Given the description of an element on the screen output the (x, y) to click on. 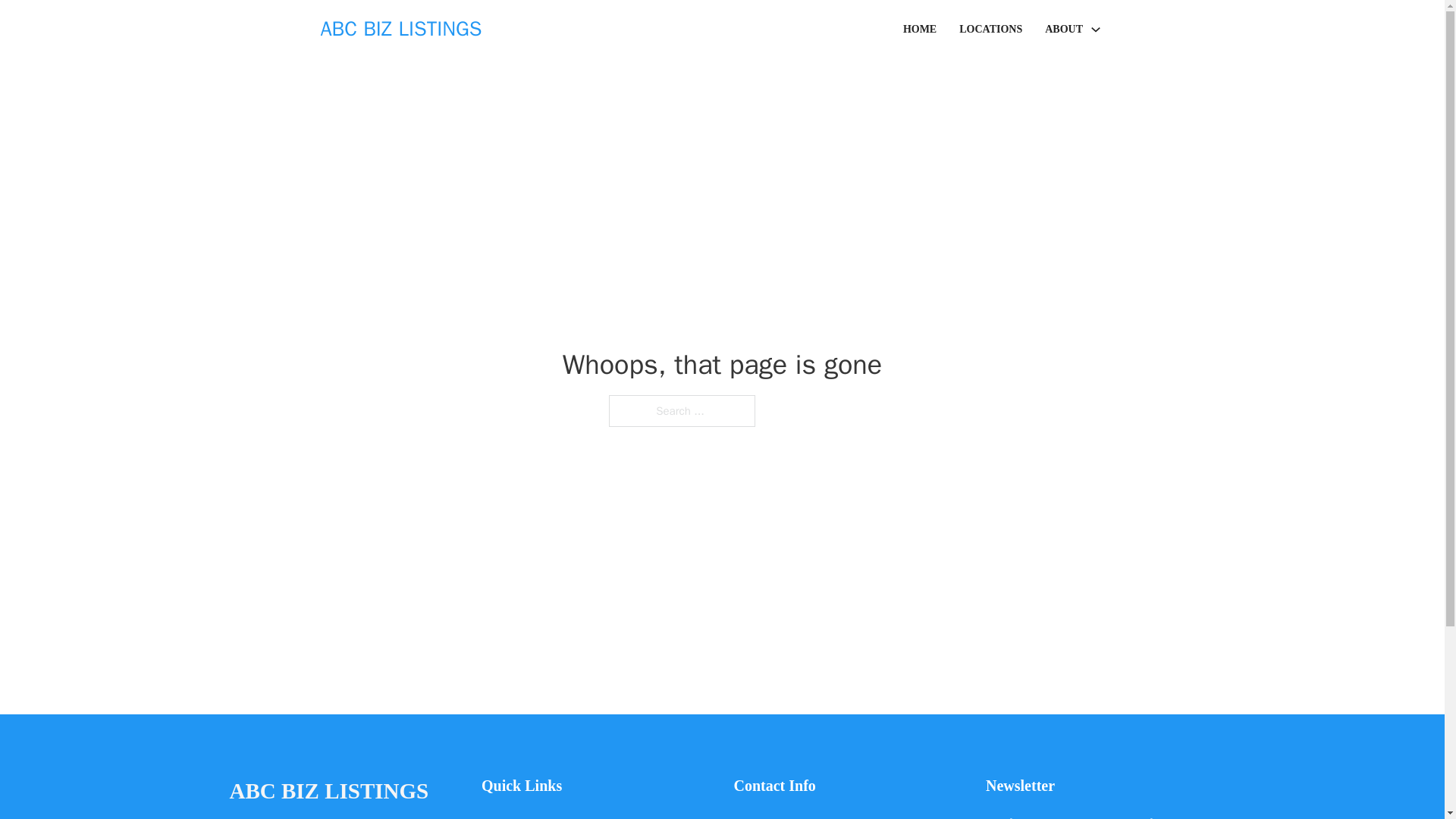
ABC BIZ LISTINGS (400, 28)
Home (496, 816)
ABC BIZ LISTINGS (328, 791)
HOME (919, 29)
LOCATIONS (990, 29)
